Given the description of an element on the screen output the (x, y) to click on. 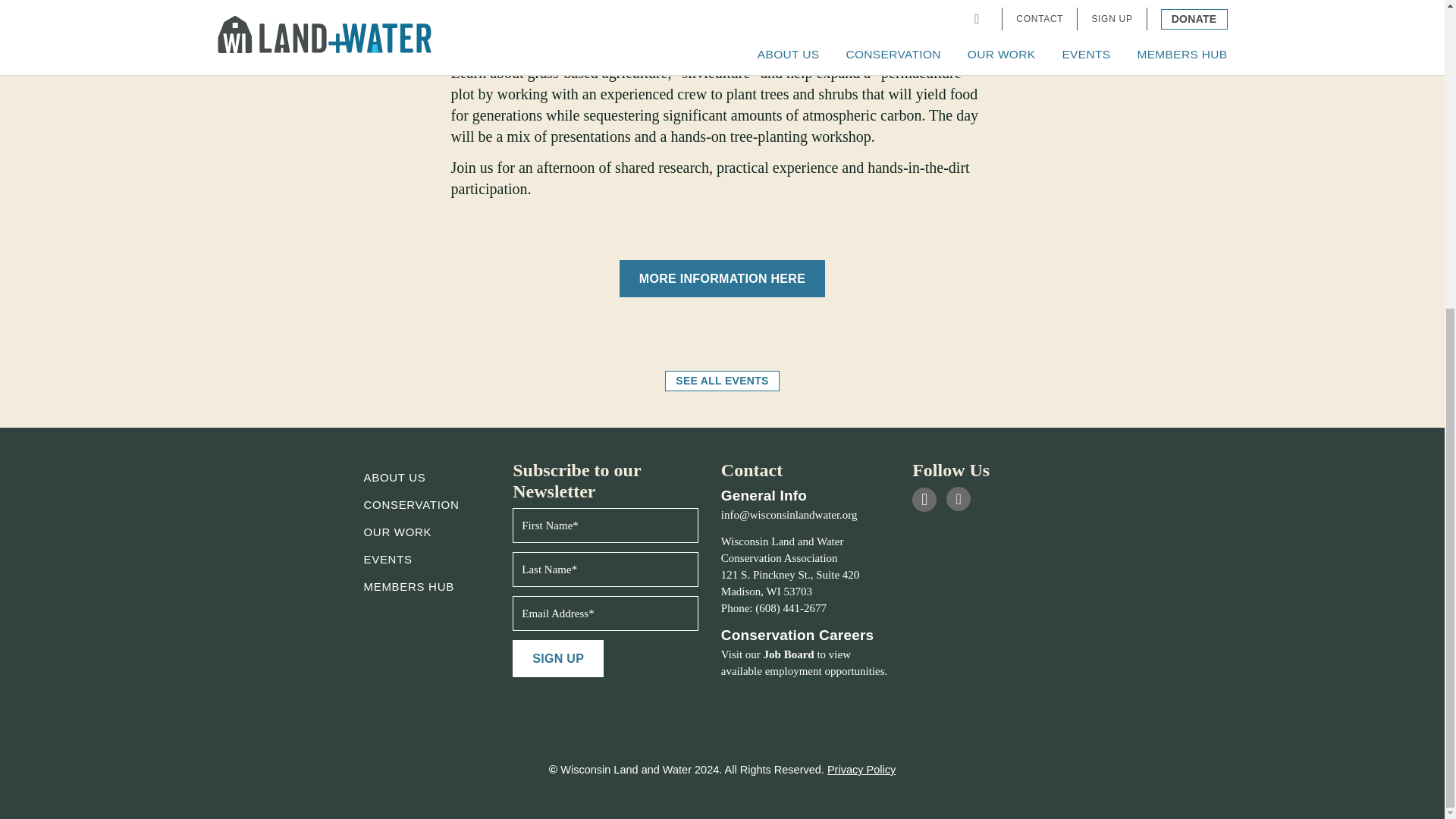
MEMBERS HUB (409, 585)
SIGN UP (558, 658)
Privacy Policy (861, 769)
SEE ALL EVENTS (721, 381)
Job Board (787, 654)
MORE INFORMATION HERE (722, 278)
EVENTS (388, 558)
OUR WORK (398, 531)
ABOUT US (395, 477)
CONSERVATION (412, 504)
